Given the description of an element on the screen output the (x, y) to click on. 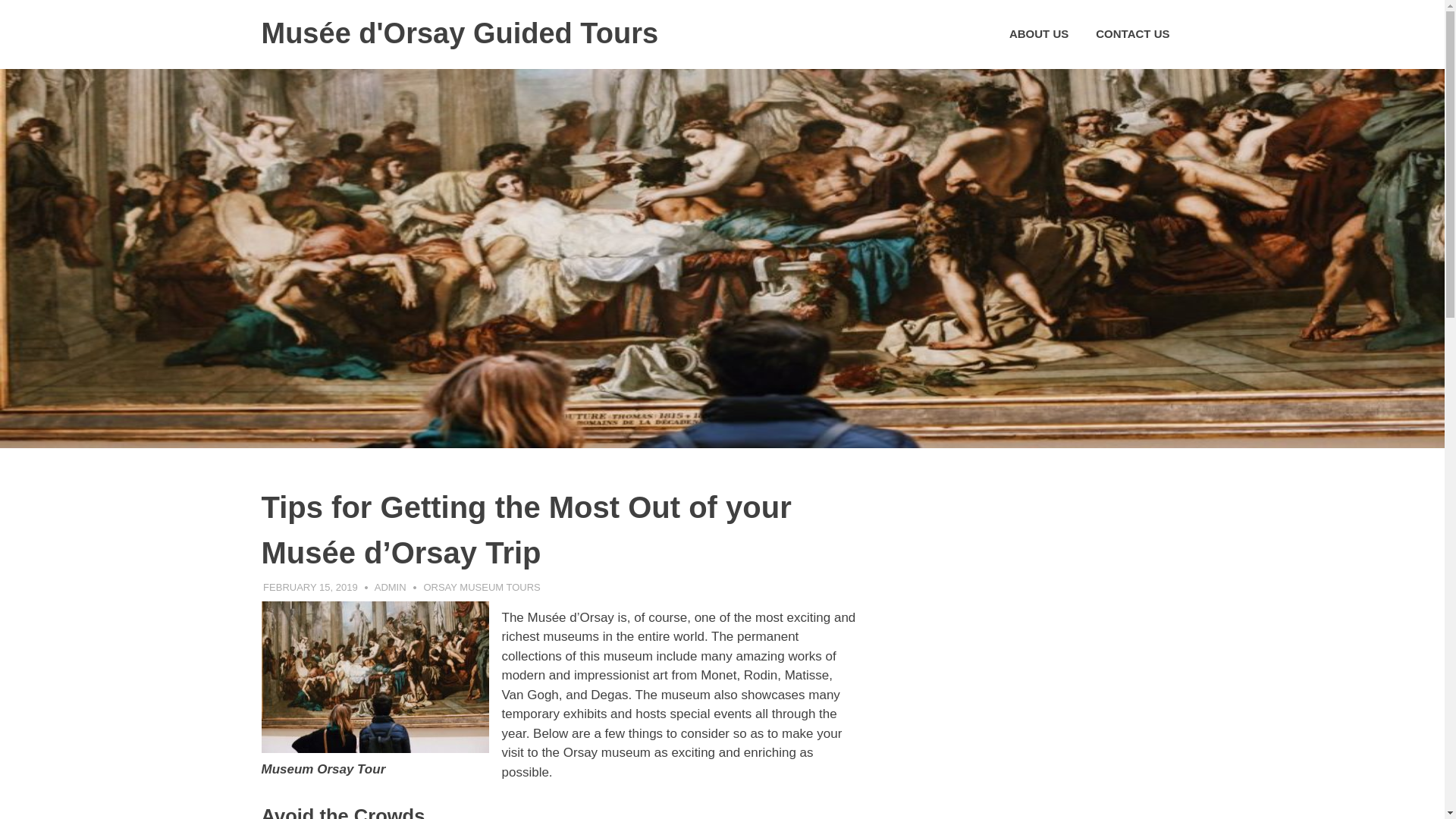
11:47 am (310, 586)
FEBRUARY 15, 2019 (310, 586)
View all posts by admin (390, 586)
ABOUT US (1038, 34)
CONTACT US (1131, 34)
ADMIN (390, 586)
ORSAY MUSEUM TOURS (481, 586)
